Given the description of an element on the screen output the (x, y) to click on. 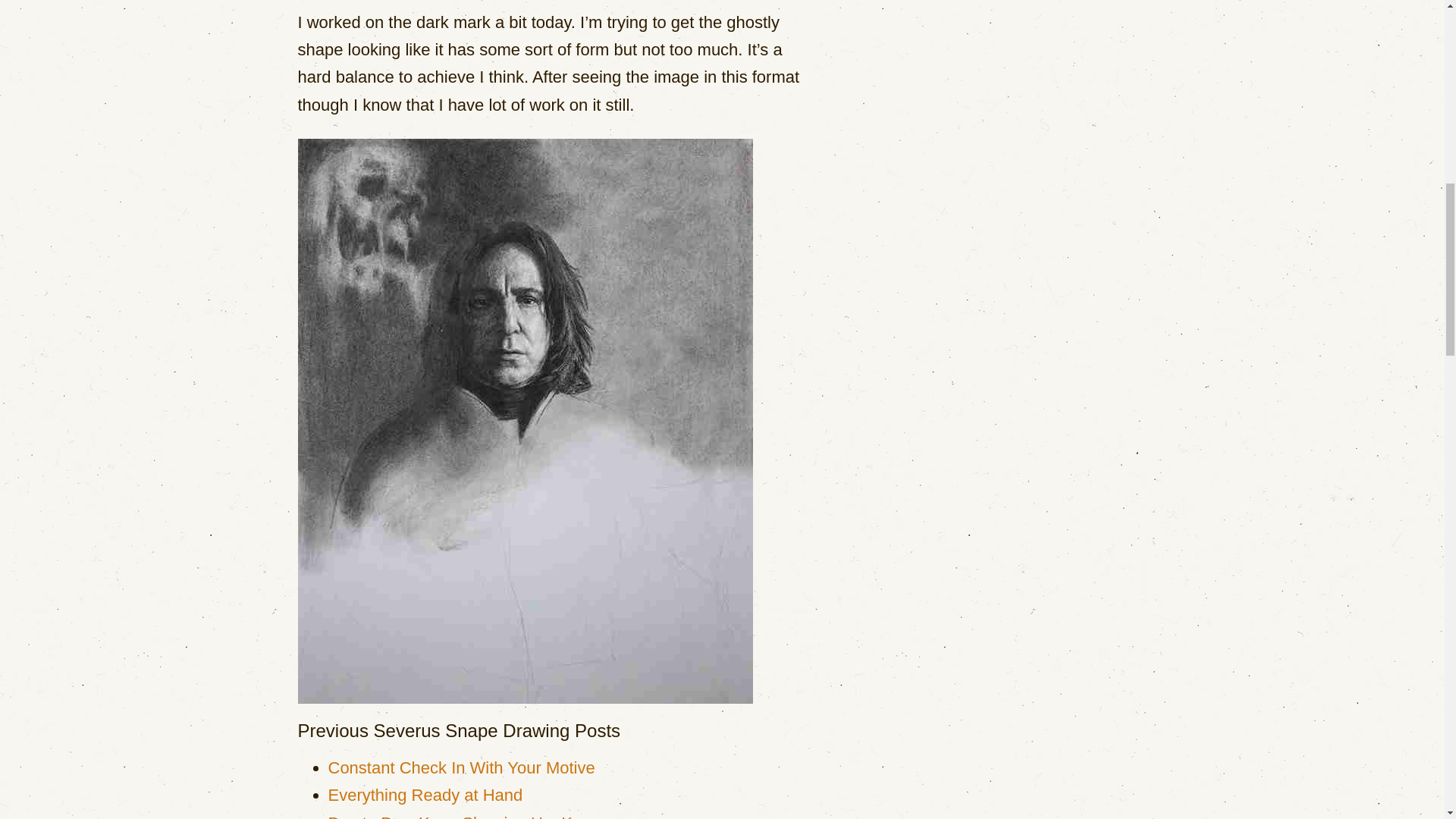
Everything Ready at Hand (424, 794)
Constant Check In With Your Motive (460, 767)
Day to Day, Keep Showing Up, Keep (463, 816)
